Given the description of an element on the screen output the (x, y) to click on. 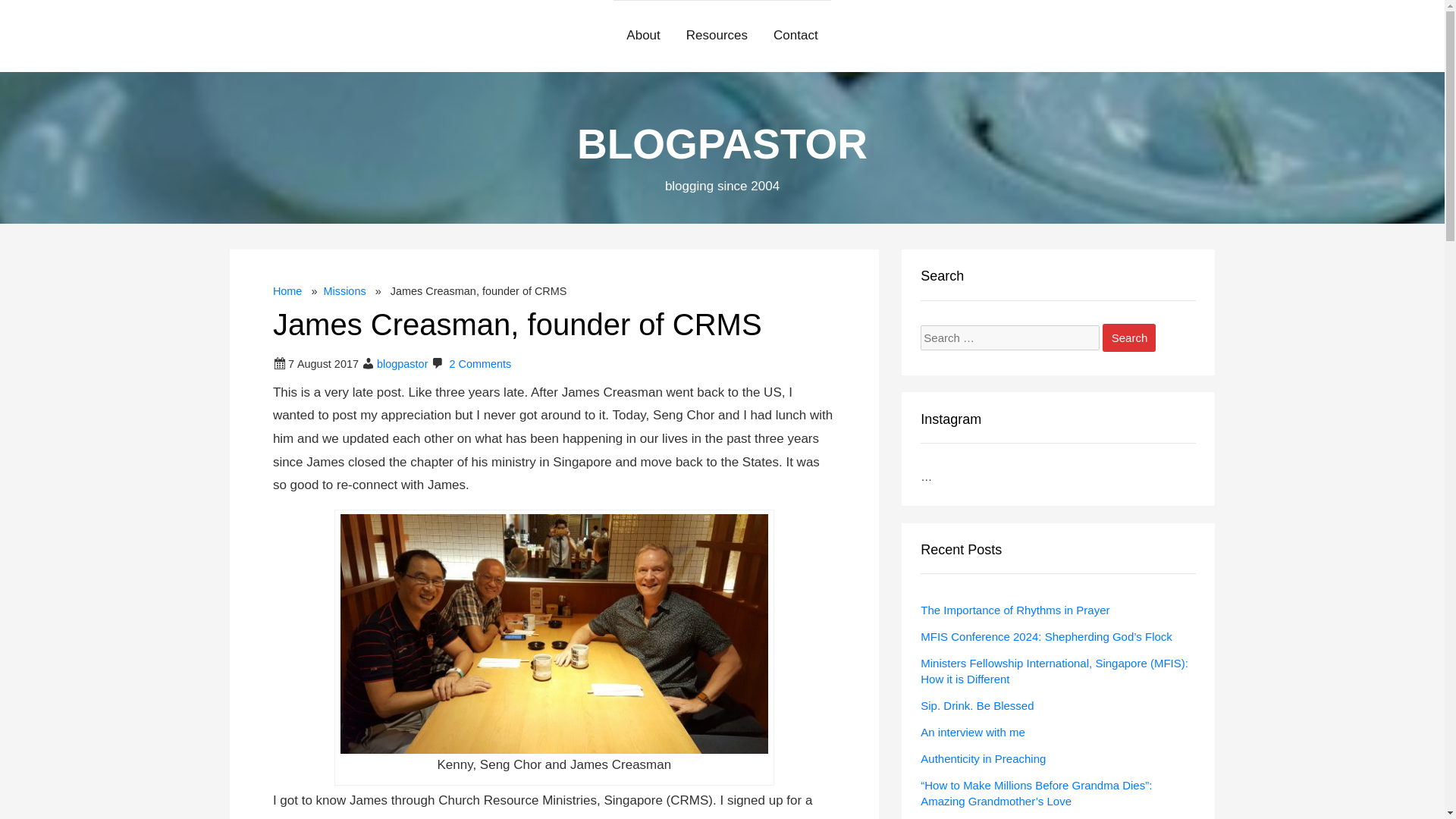
Contact (795, 36)
blogpastor (402, 363)
An interview with me (972, 731)
Home (287, 291)
Posts by blogpastor (402, 363)
Sip. Drink. Be Blessed (976, 705)
Authenticity in Preaching (982, 758)
2 Comments (479, 363)
Search (1129, 337)
Missions (344, 291)
